Given the description of an element on the screen output the (x, y) to click on. 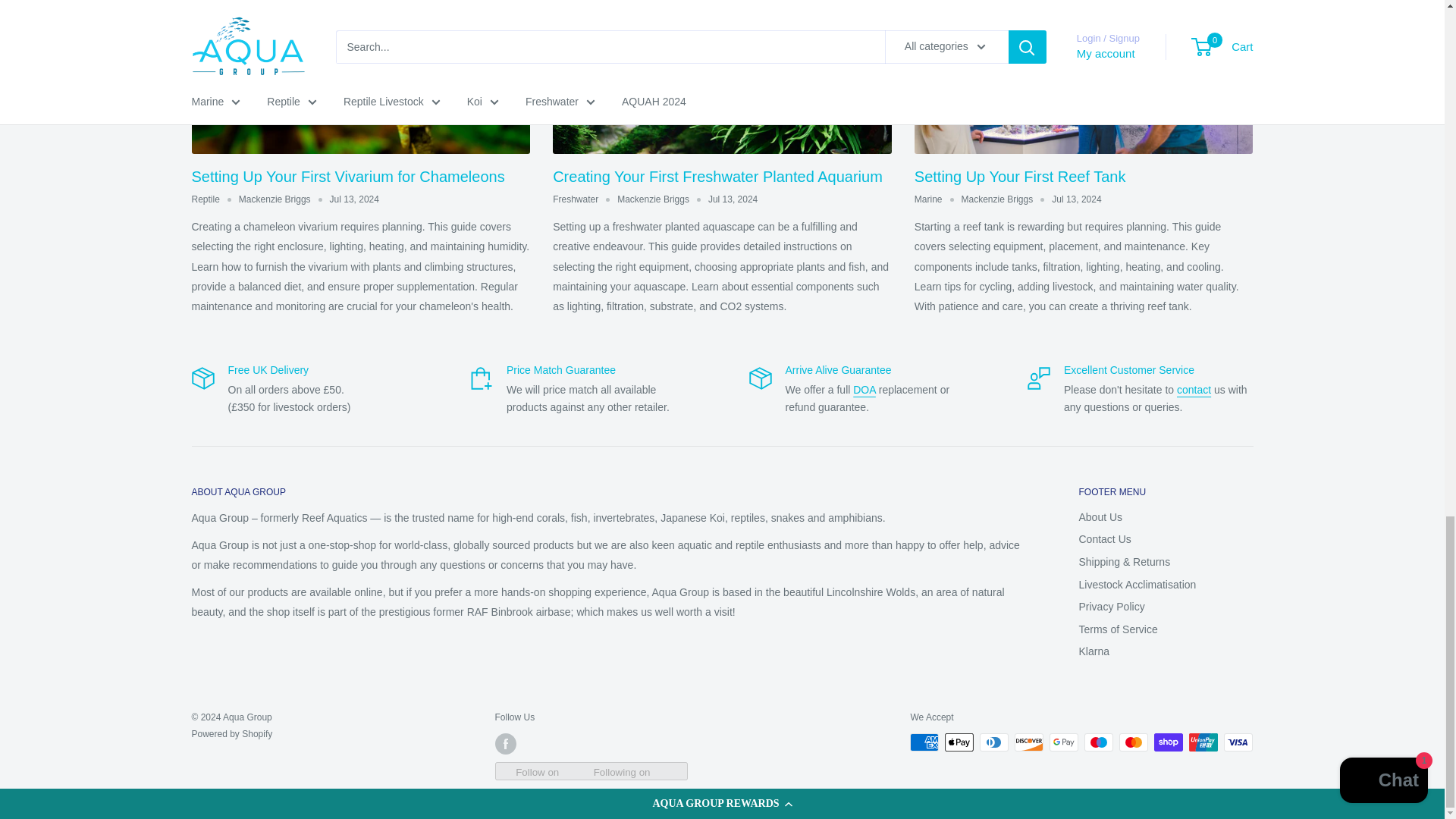
Dead on Arrival Policy (864, 389)
